Given the description of an element on the screen output the (x, y) to click on. 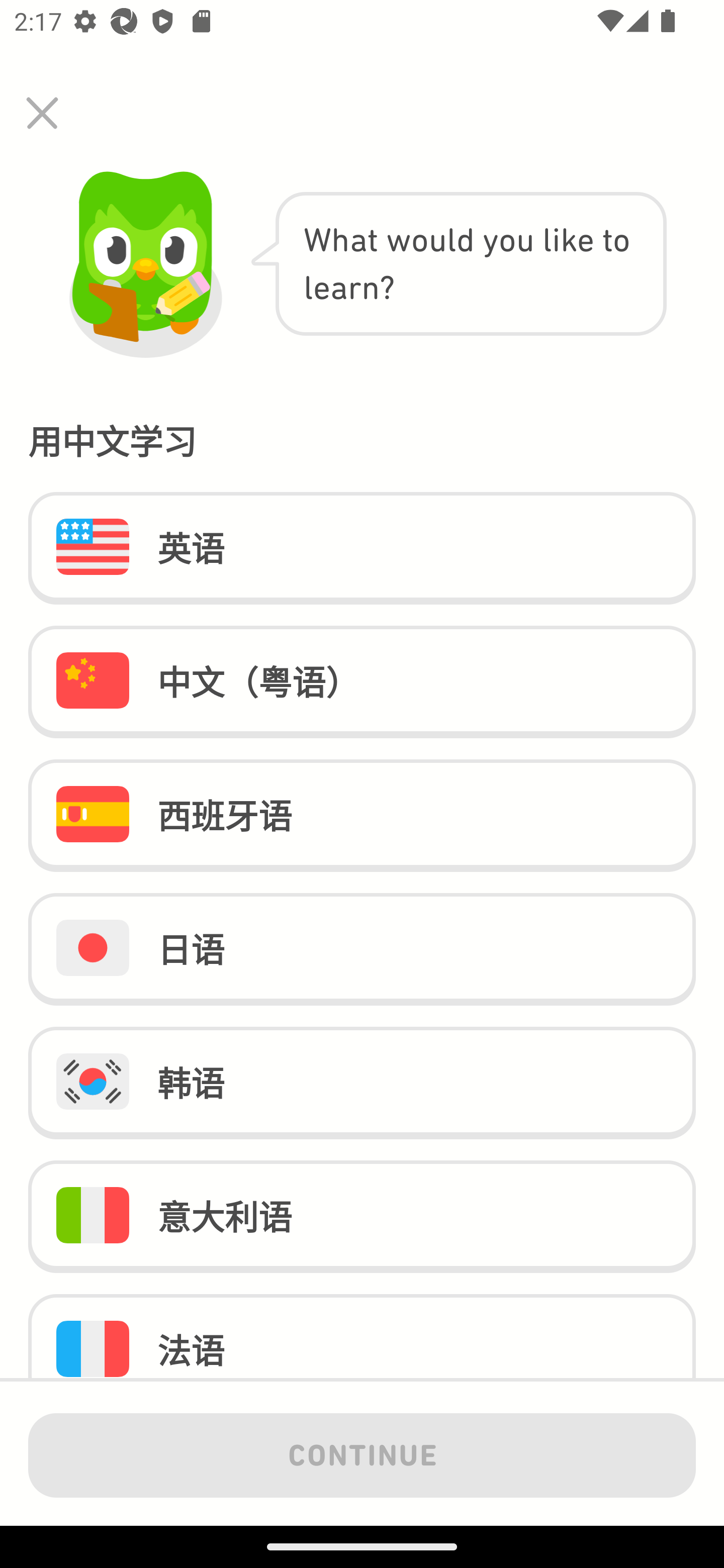
Close Page (41, 112)
用中文学习 (361, 439)
英语 (361, 548)
中文（粤语） (361, 681)
西班牙语 (361, 814)
日语 (361, 949)
韩语 (361, 1083)
意大利语 (361, 1216)
法语 (361, 1335)
